Given the description of an element on the screen output the (x, y) to click on. 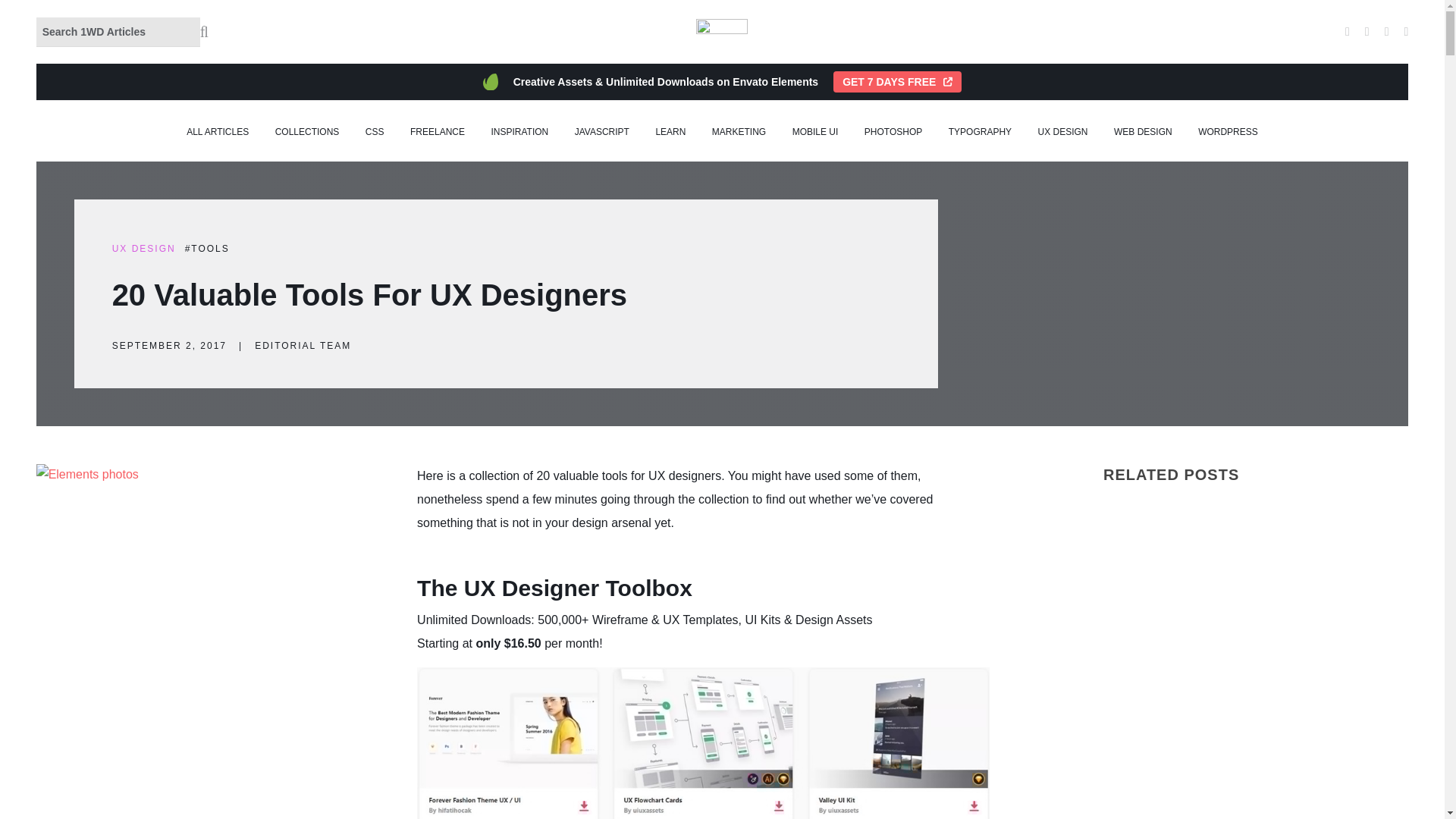
GET 7 DAYS FREE (896, 81)
INSPIRATION (519, 131)
WORDPRESS (1227, 131)
COLLECTIONS (307, 131)
JAVASCRIPT (601, 131)
PHOTOSHOP (892, 131)
LEARN (670, 131)
CSS (374, 131)
MARKETING (738, 131)
MOBILE UI (815, 131)
